Given the description of an element on the screen output the (x, y) to click on. 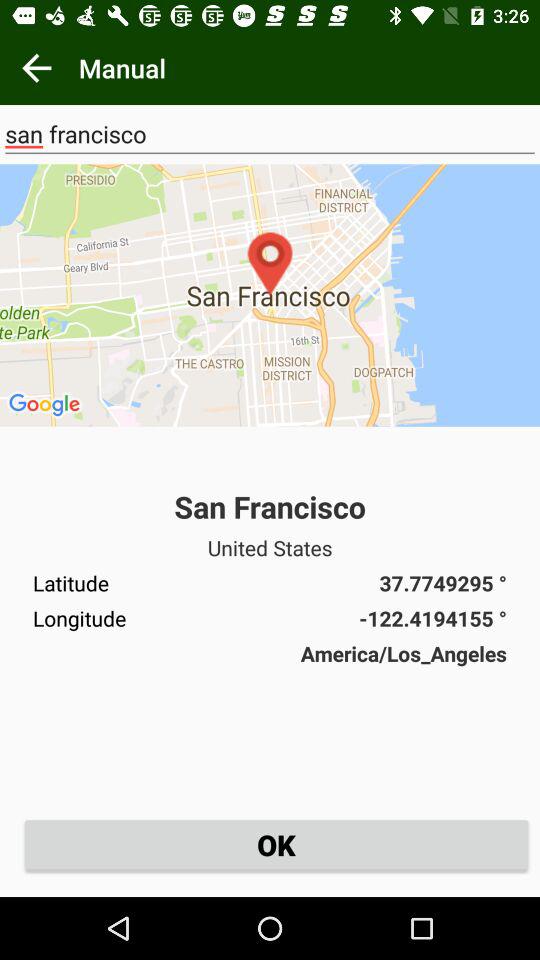
tap the item above san francisco icon (36, 68)
